Given the description of an element on the screen output the (x, y) to click on. 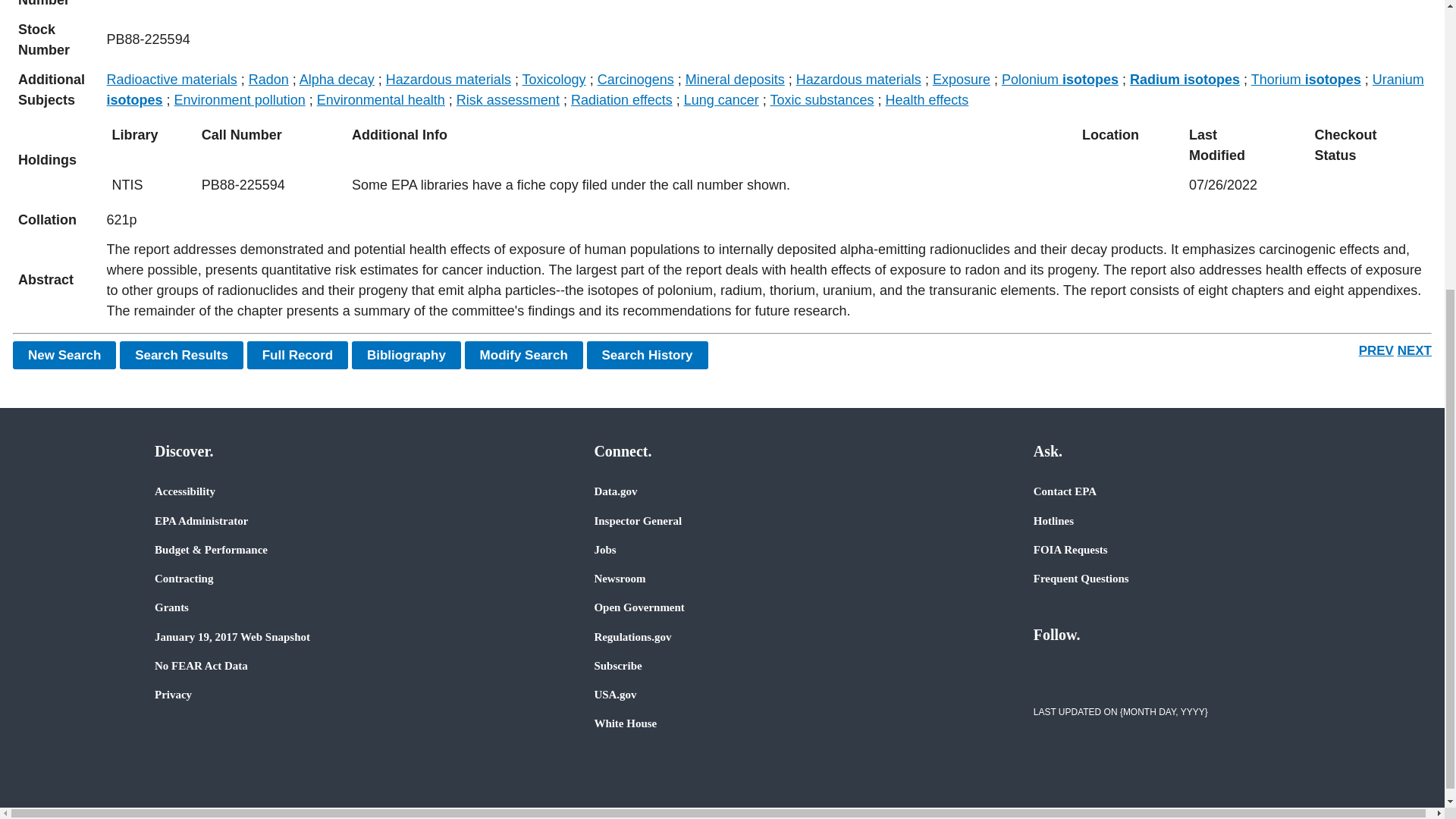
Full Record (298, 355)
Show results in standard format (181, 355)
Environmental health (381, 99)
Environment pollution (239, 99)
Toxicology (554, 79)
Mineral deposits (734, 79)
Thorium isotopes (1305, 79)
Hazardous materials (448, 79)
Risk assessment (508, 99)
EPA Administrator (200, 520)
